Given the description of an element on the screen output the (x, y) to click on. 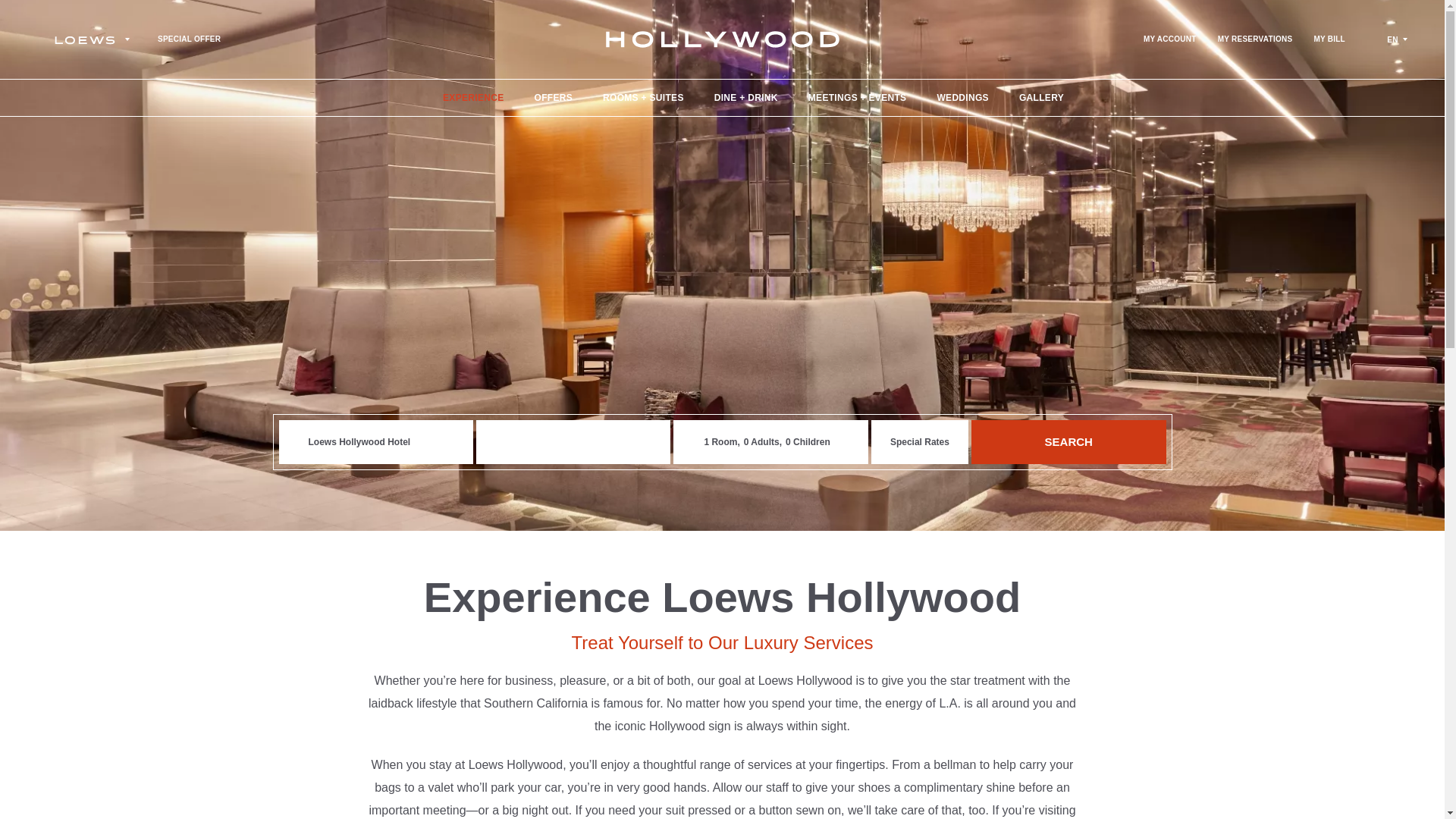
MY RESERVATIONS (1254, 39)
OFFERS (553, 97)
Global Switch (1395, 39)
MY ACCOUNT (1169, 39)
MY BILL (1329, 39)
EN (1395, 39)
EXPERIENCE (472, 97)
